Given the description of an element on the screen output the (x, y) to click on. 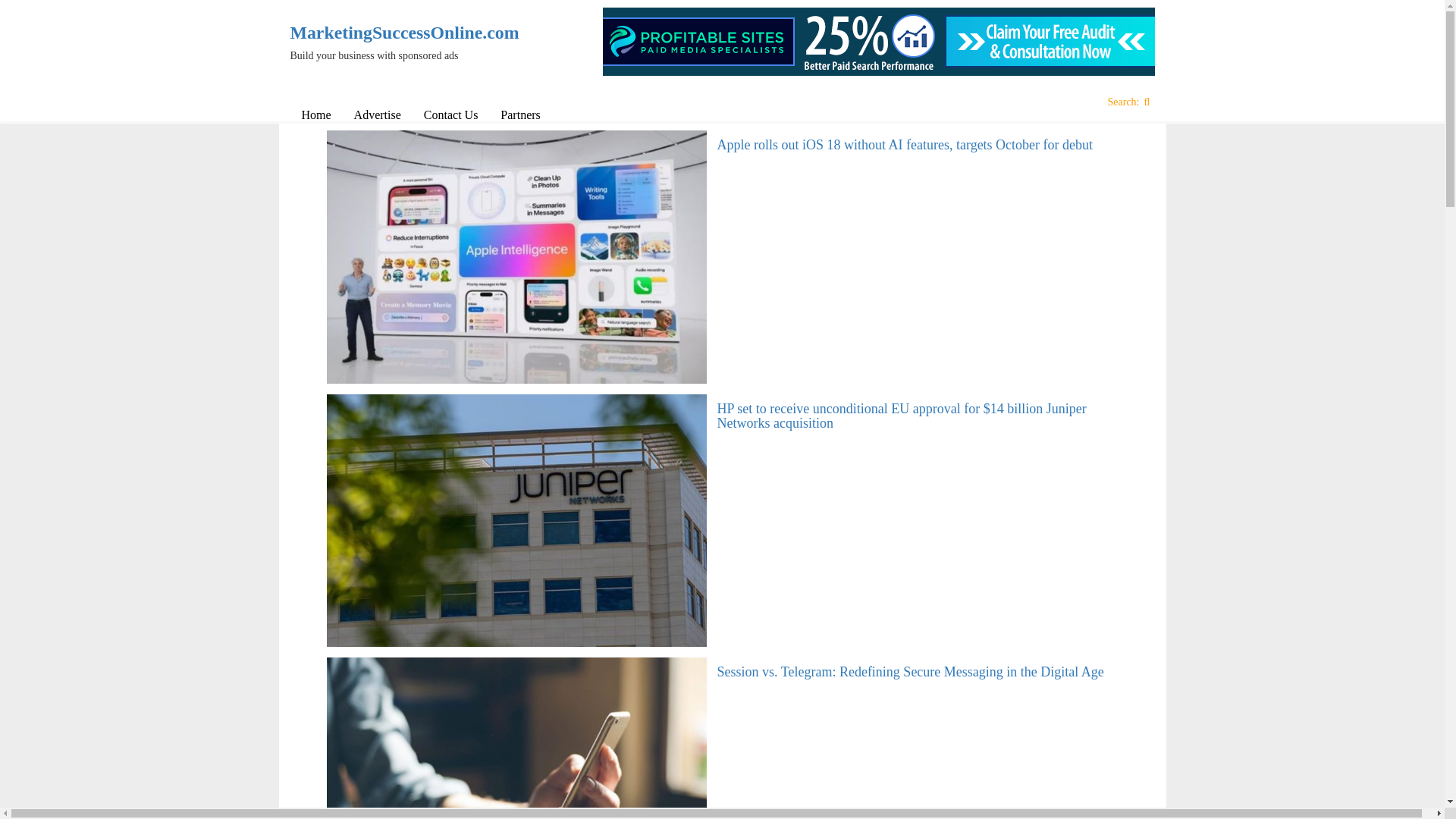
Partners (520, 115)
Home (315, 115)
Advertise (377, 115)
MarketingSuccessOnline.com (389, 32)
Contact Us (450, 115)
